Given the description of an element on the screen output the (x, y) to click on. 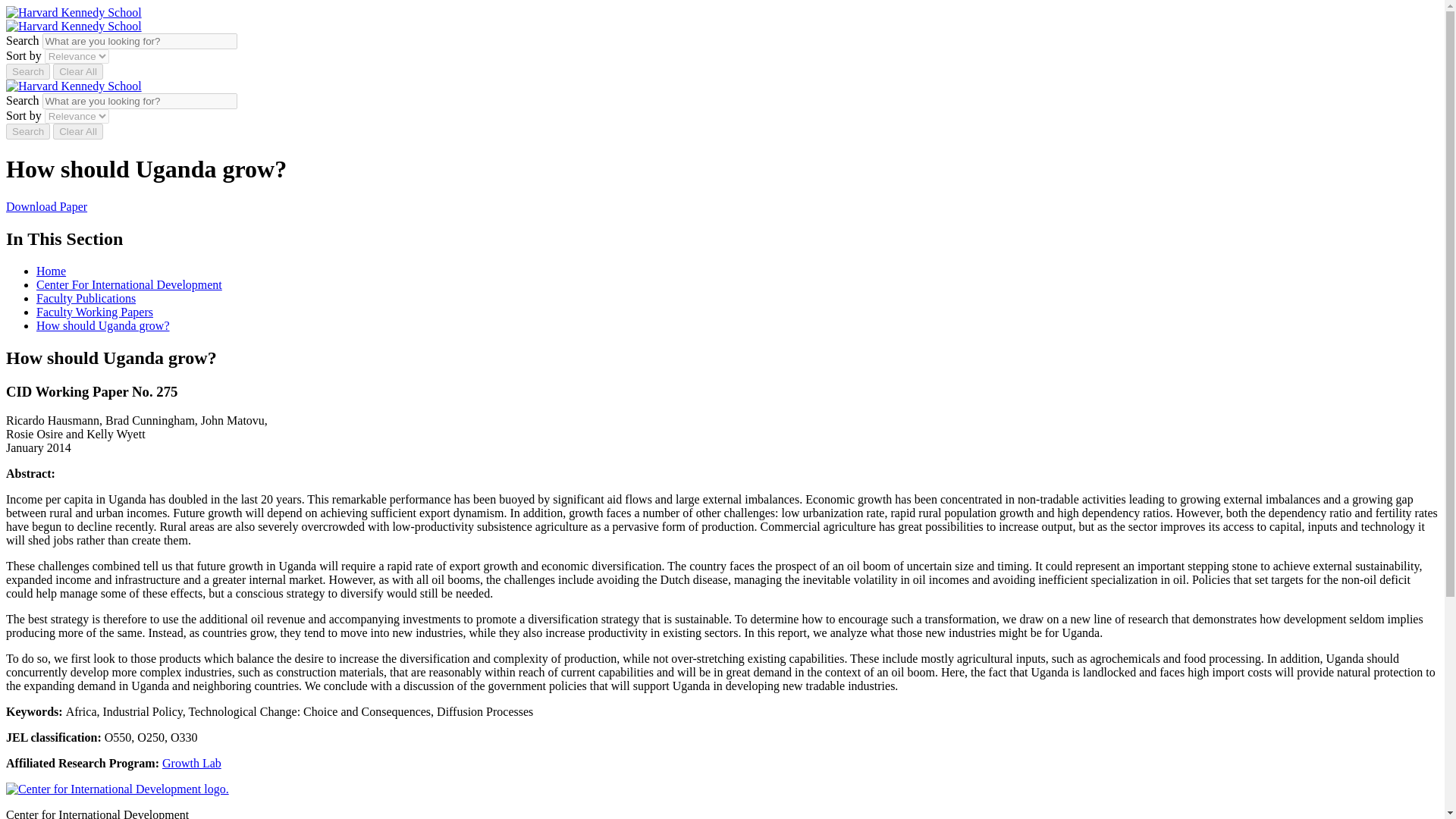
Clear All (77, 71)
Clear All (77, 131)
Center for International Development logo. (116, 789)
Faculty Working Papers (94, 311)
Faculty Publications (85, 297)
Center For International Development (129, 284)
Growth Lab (191, 762)
Clear All (77, 71)
Clear All (77, 131)
Search (27, 131)
Home (50, 270)
Search (27, 71)
Download Paper (46, 205)
How should Uganda grow? (103, 325)
